Given the description of an element on the screen output the (x, y) to click on. 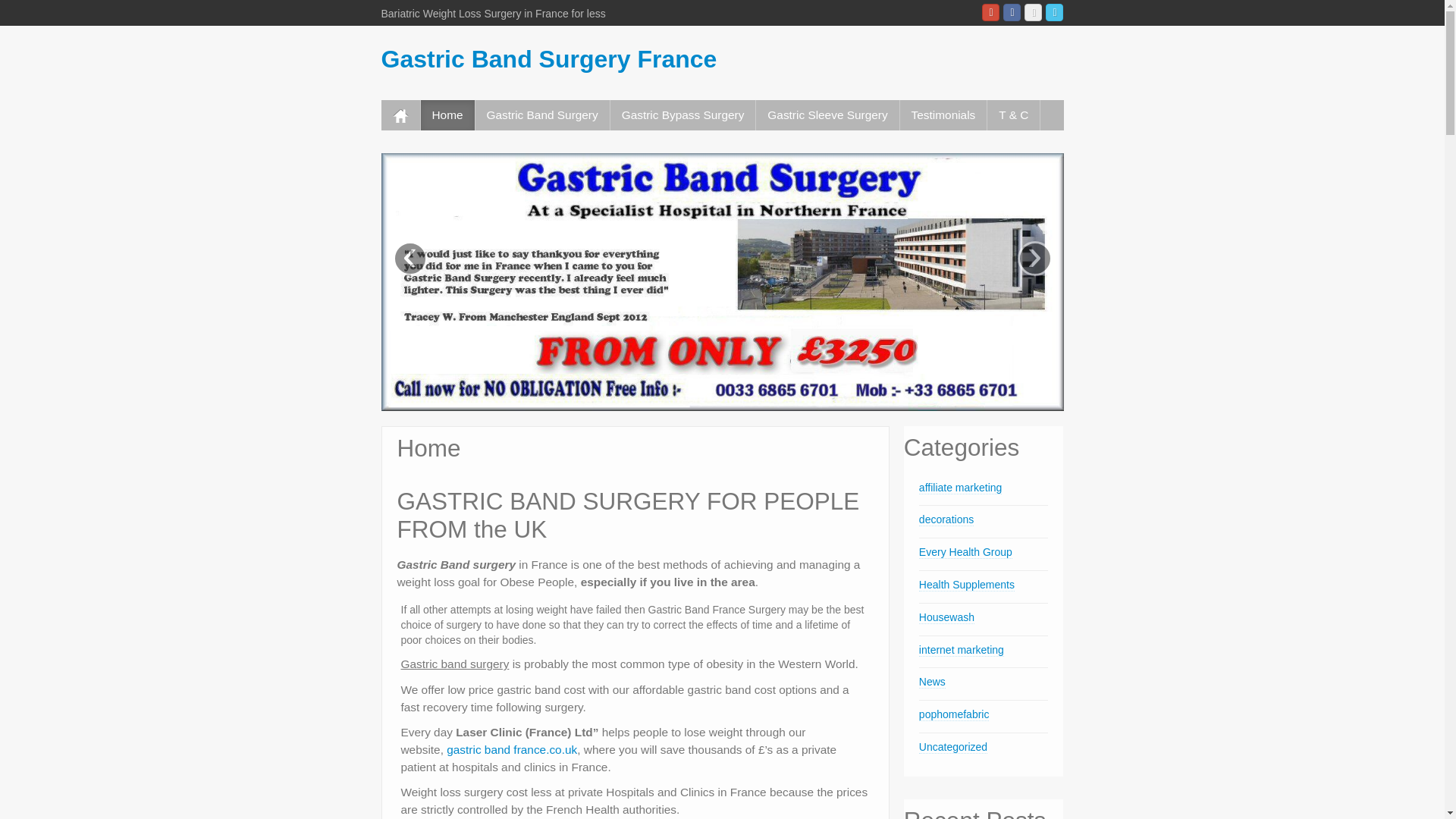
Testimonials (943, 114)
Gastric Band Surgery France (548, 58)
Gastric Band Surgery France Twitter (1053, 12)
Gastric Band Surgery France Googleplus (989, 12)
Gastric Band Surgery France (548, 58)
Housewash (946, 617)
gastric band france.co.uk (511, 748)
affiliate marketing (959, 487)
Gastric Bypass Surgery (682, 114)
News (931, 681)
